Given the description of an element on the screen output the (x, y) to click on. 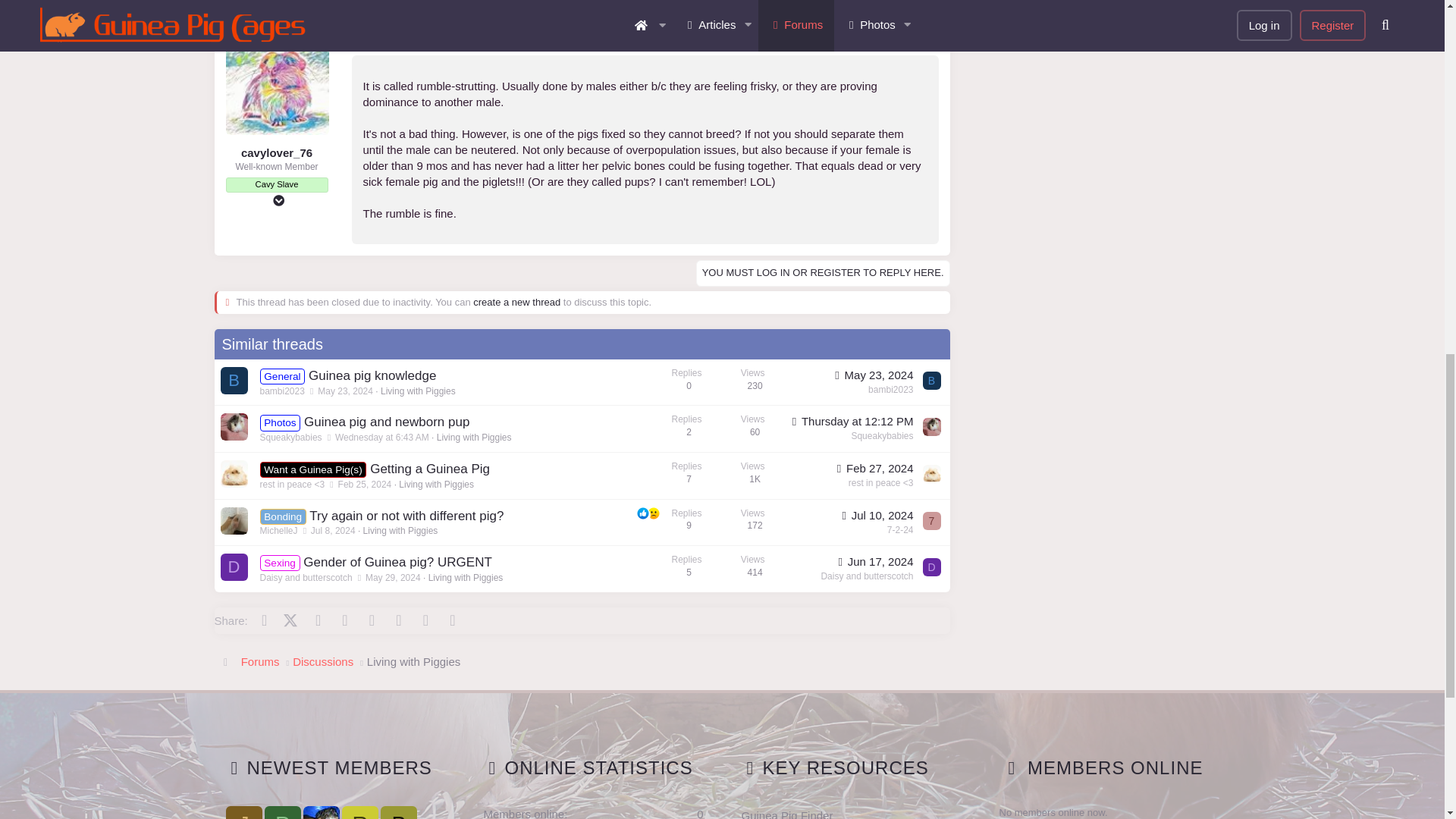
Jul 17, 2024 at 12:12 PM (851, 420)
First message reaction score: 0 (720, 428)
Jul 22, 2004 at 8:18 AM (376, 37)
May 23, 2024 at 11:25 AM (872, 374)
May 23, 2024 at 11:25 AM (344, 390)
Squeakybabies (930, 426)
bambi2023 (930, 380)
Jul 17, 2024 at 6:43 AM (381, 437)
Squeakybabies (233, 426)
First message reaction score: 0 (720, 382)
bambi2023 (233, 379)
